Given the description of an element on the screen output the (x, y) to click on. 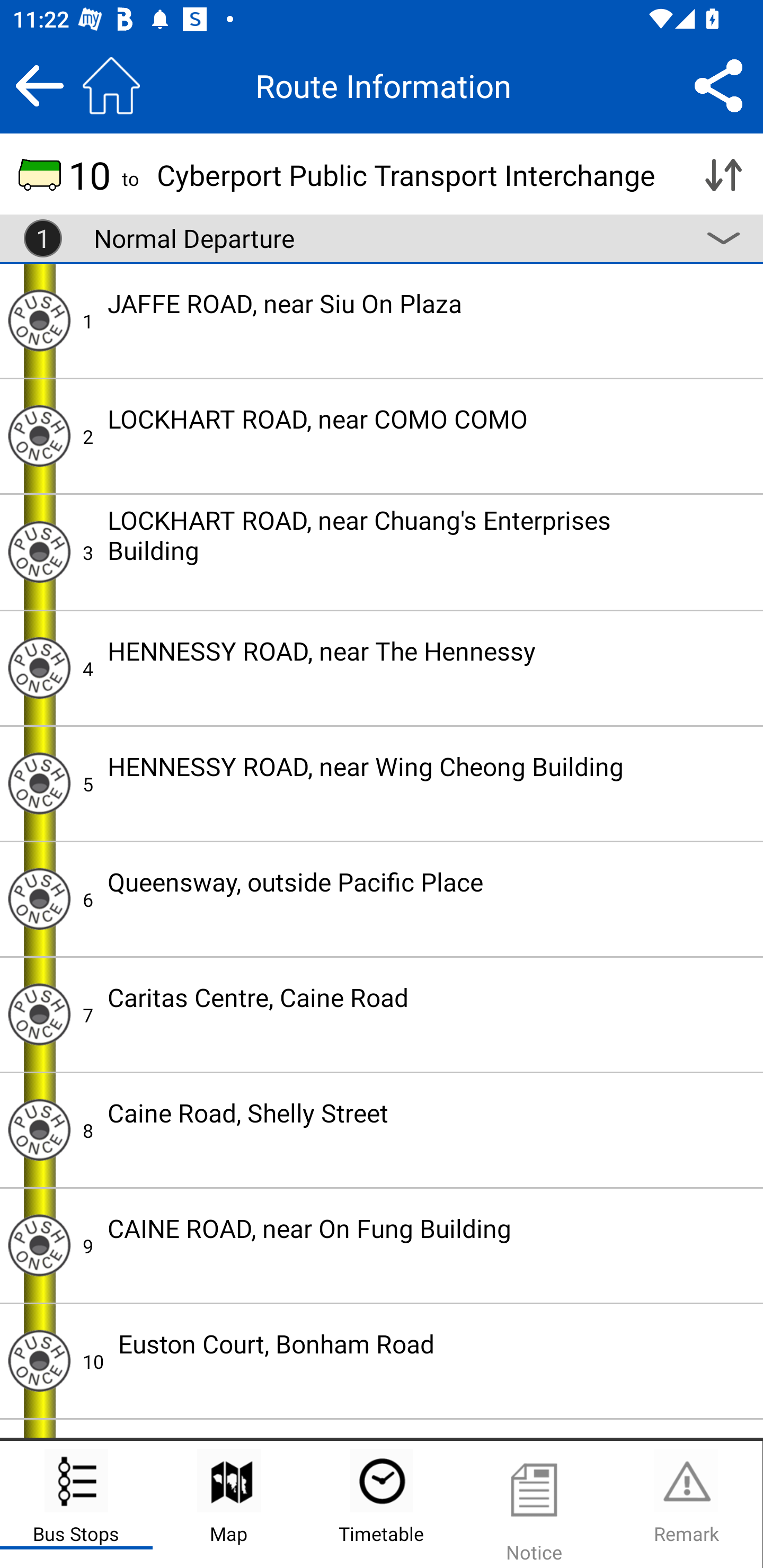
Jump to home page (111, 85)
Share point to point route search criteria) (718, 85)
Back (39, 85)
Reverse direction (723, 174)
Other routes (723, 238)
Alight Reminder (39, 320)
Alight Reminder (39, 435)
Alight Reminder (39, 551)
Alight Reminder (39, 667)
Alight Reminder (39, 783)
Alight Reminder (39, 899)
Alight Reminder (39, 1014)
Alight Reminder (39, 1129)
Alight Reminder (39, 1245)
Alight Reminder (39, 1360)
Bus Stops (76, 1504)
Map (228, 1504)
Timetable (381, 1504)
Notice (533, 1504)
Remark (686, 1504)
